Given the description of an element on the screen output the (x, y) to click on. 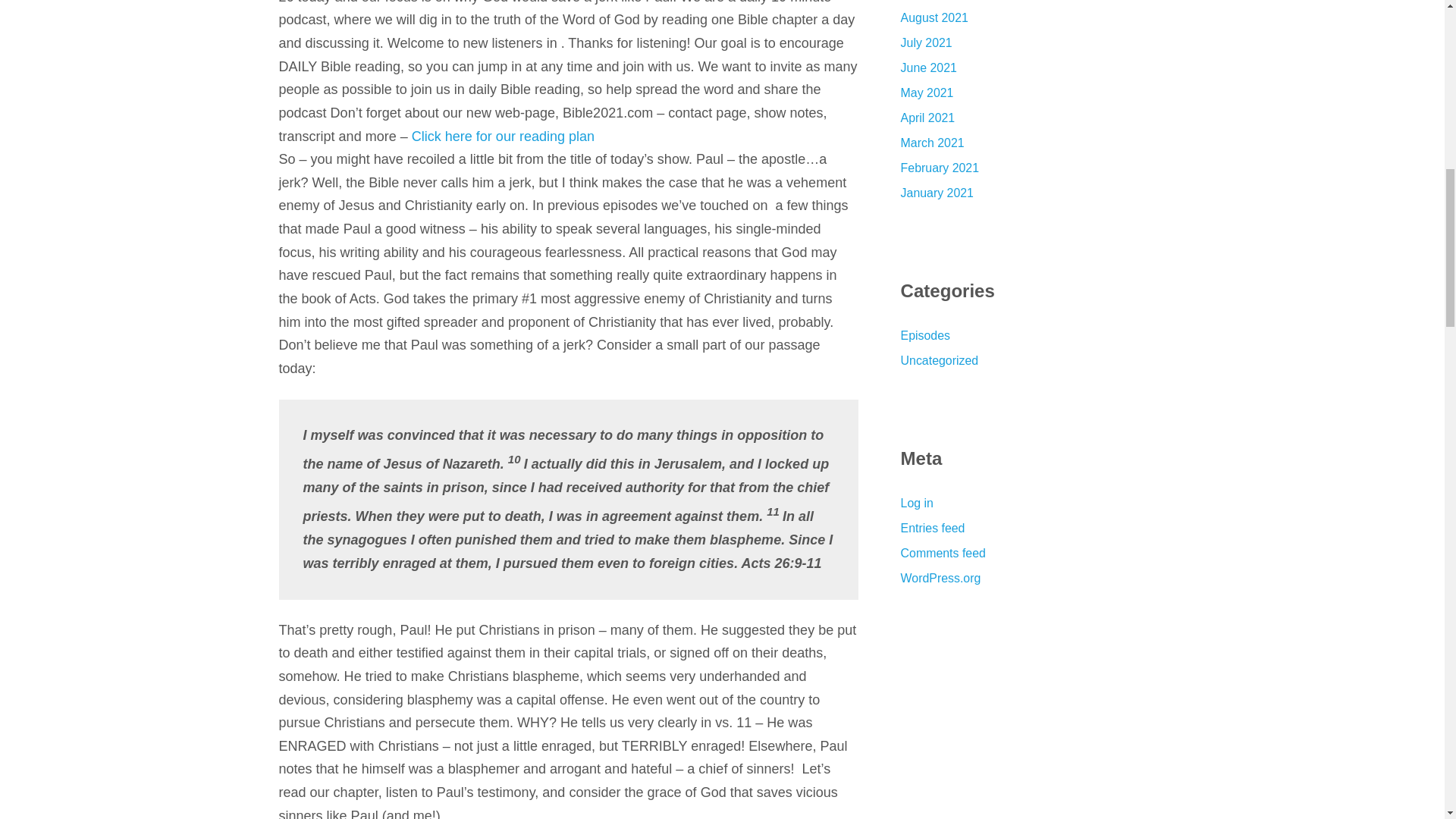
Click here for our reading plan (500, 136)
